Given the description of an element on the screen output the (x, y) to click on. 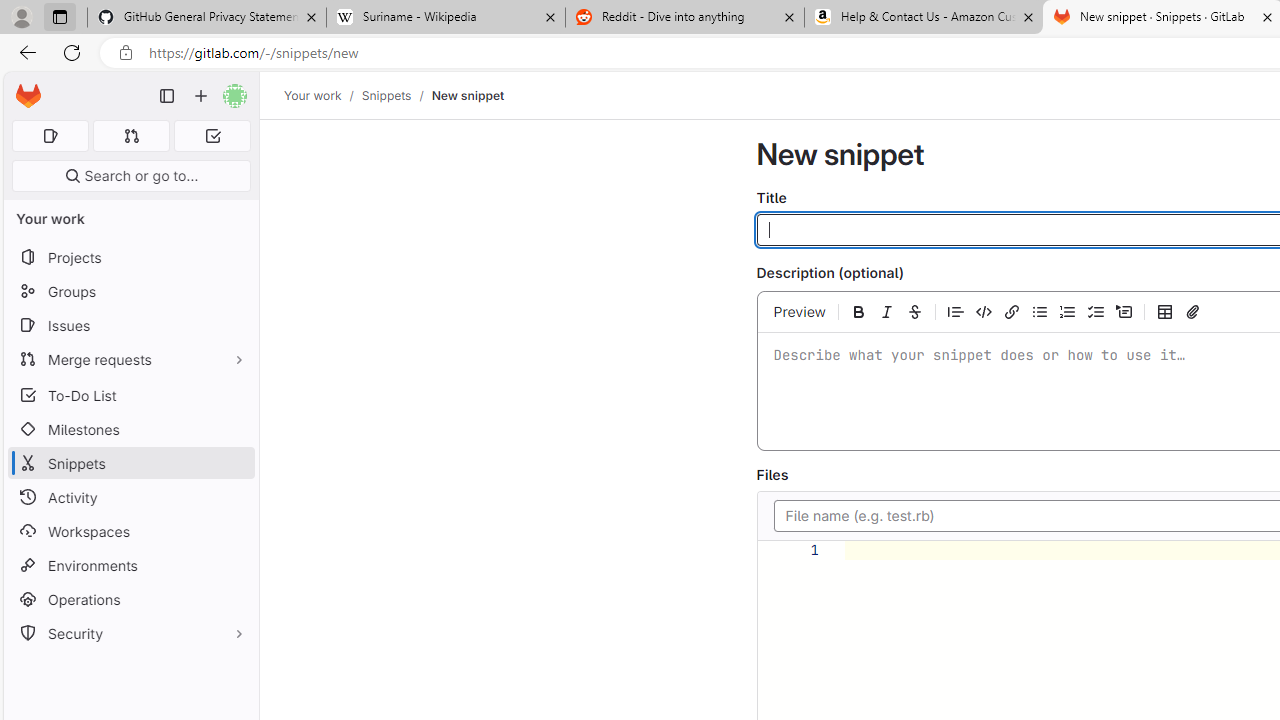
Environments (130, 564)
Issues (130, 325)
Snippets/ (396, 95)
Merge requests (130, 358)
Merge requests 0 (131, 136)
Your work (312, 95)
Add a checklist (1096, 311)
Operations (130, 599)
Add a numbered list (1068, 311)
Groups (130, 291)
